Given the description of an element on the screen output the (x, y) to click on. 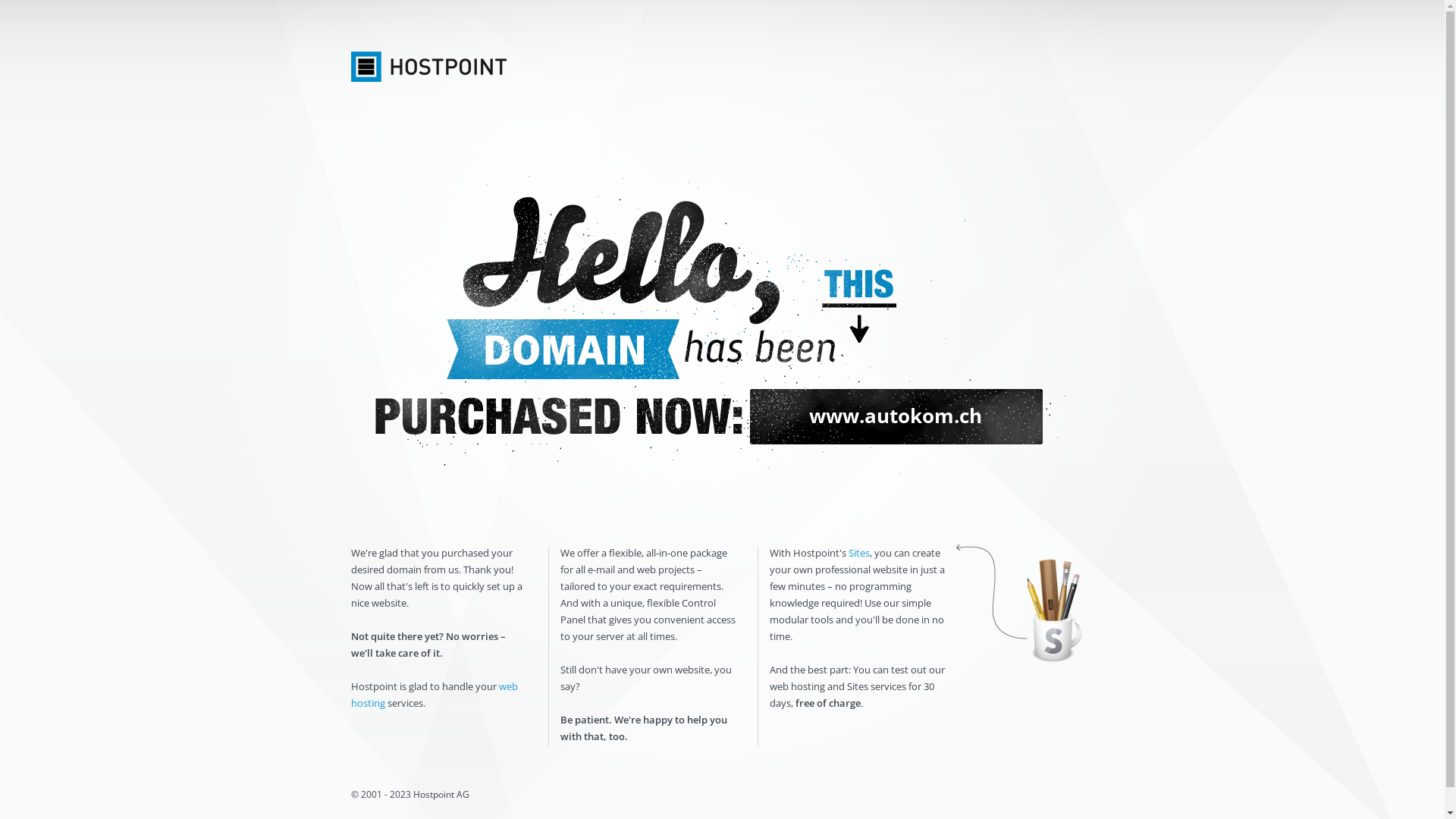
web hosting Element type: text (433, 694)
Sites Element type: text (858, 552)
